Given the description of an element on the screen output the (x, y) to click on. 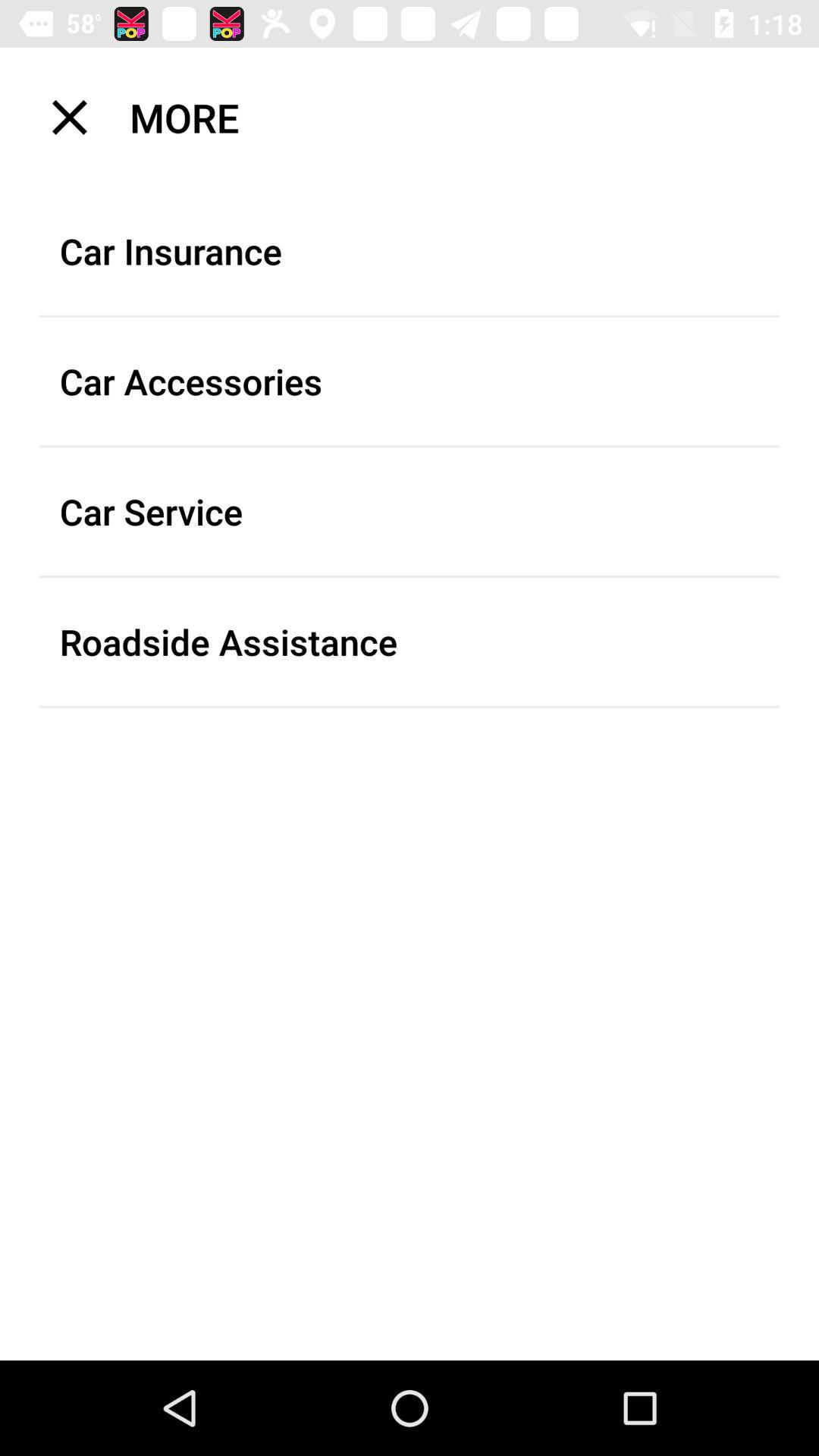
tap the icon above the car insurance item (419, 117)
